Given the description of an element on the screen output the (x, y) to click on. 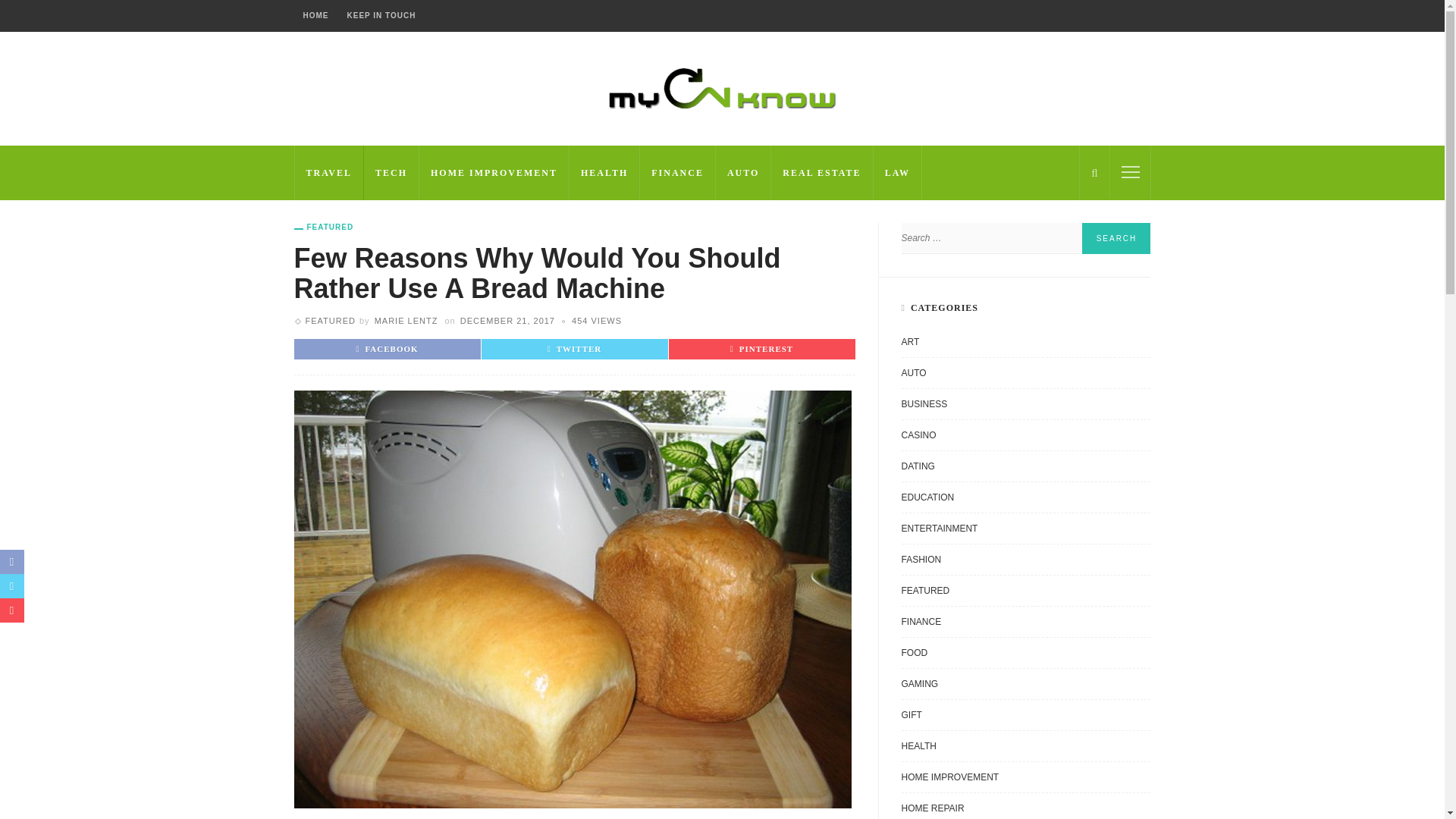
KEEP IN TOUCH (381, 15)
FEATURED (323, 226)
My Cn know (721, 87)
454 VIEWS (596, 320)
Search (1115, 237)
TWITTER (574, 347)
PINTEREST (761, 347)
FEATURED (329, 320)
AUTO (743, 172)
TRAVEL (329, 172)
